Given the description of an element on the screen output the (x, y) to click on. 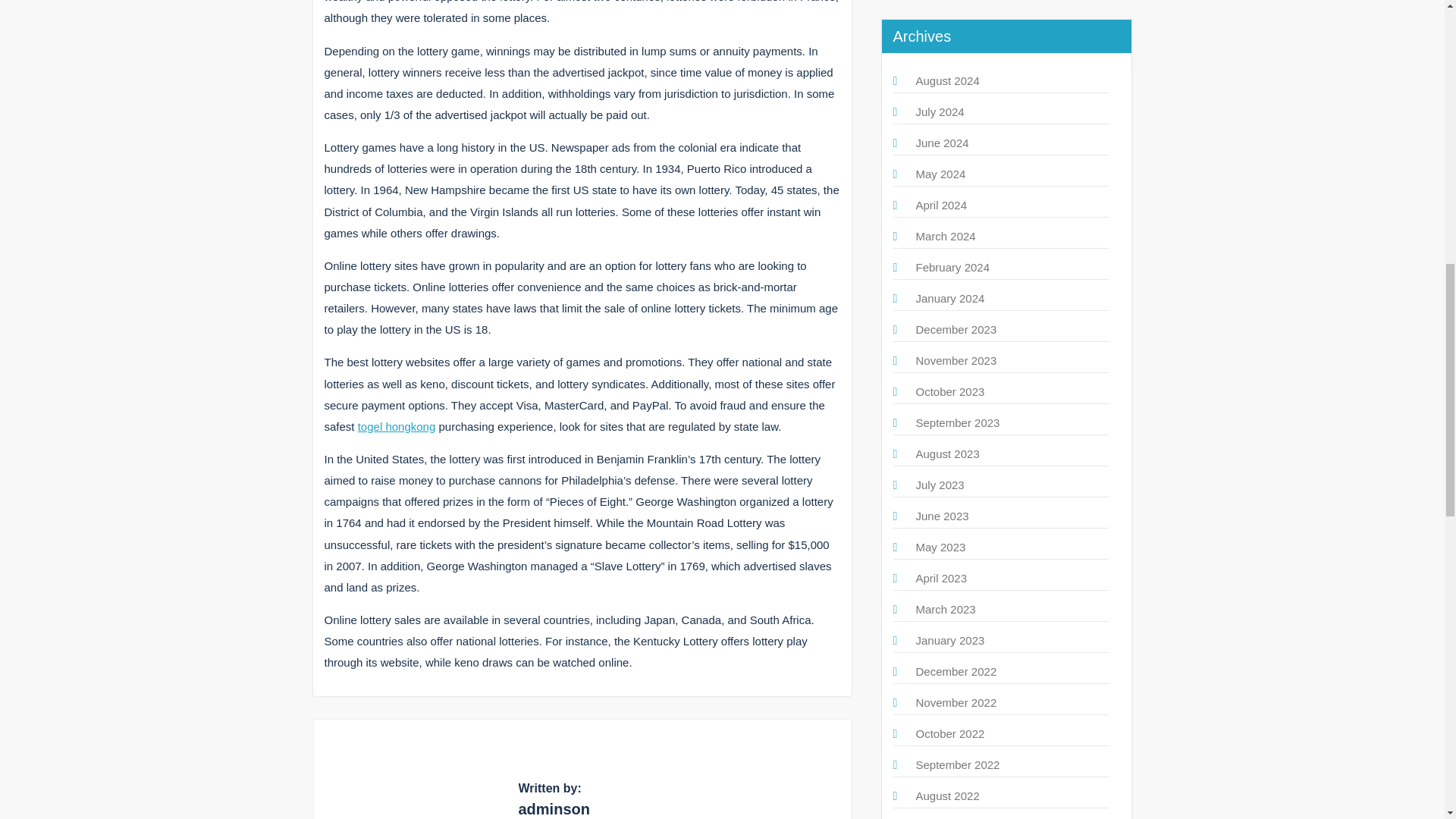
October 2022 (950, 733)
January 2023 (950, 640)
December 2022 (956, 671)
March 2024 (945, 236)
May 2024 (940, 173)
June 2023 (942, 515)
February 2024 (952, 267)
March 2023 (945, 608)
May 2023 (940, 546)
September 2023 (957, 422)
